Given the description of an element on the screen output the (x, y) to click on. 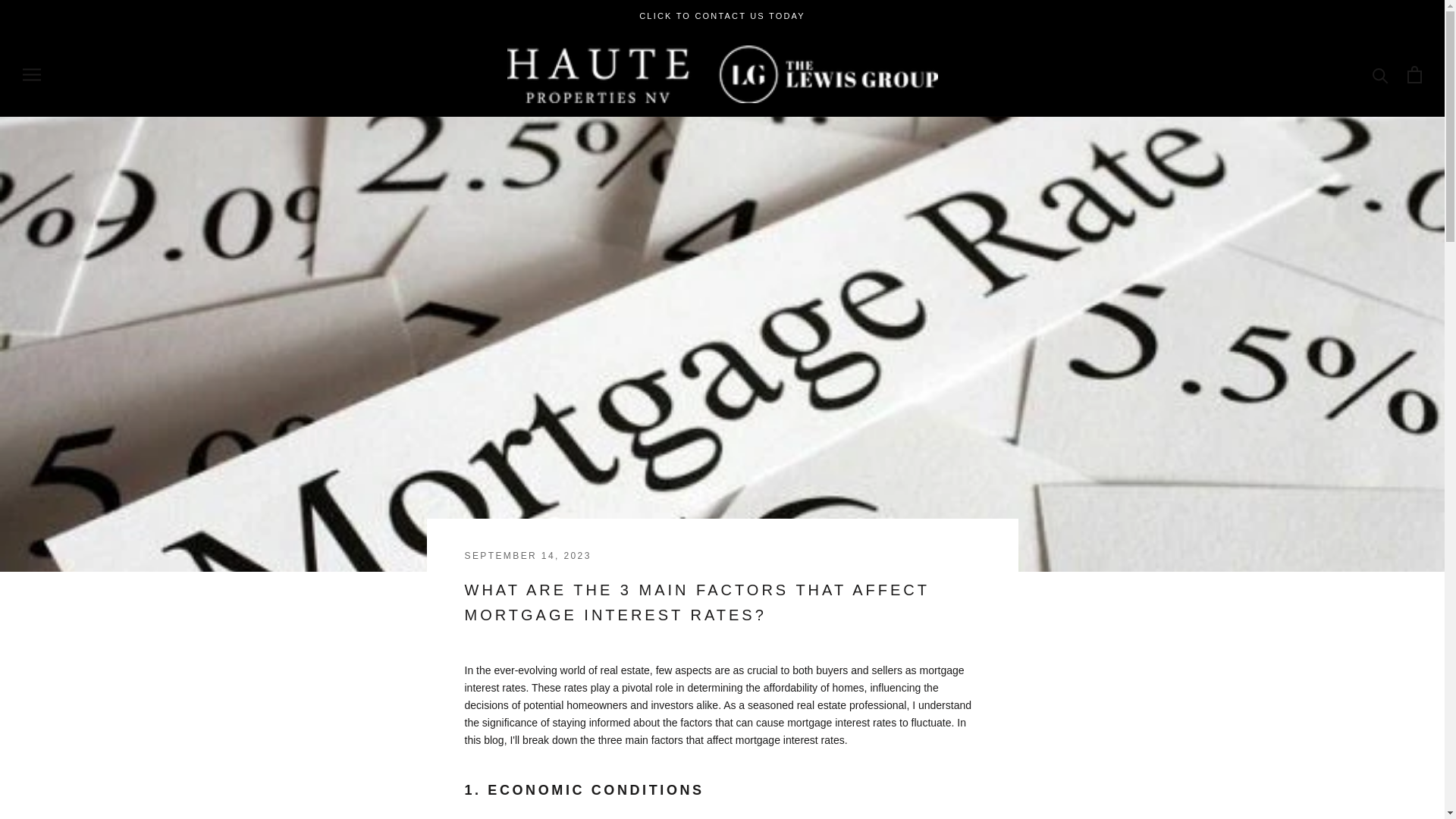
CLICK TO CONTACT US TODAY (722, 15)
